Given the description of an element on the screen output the (x, y) to click on. 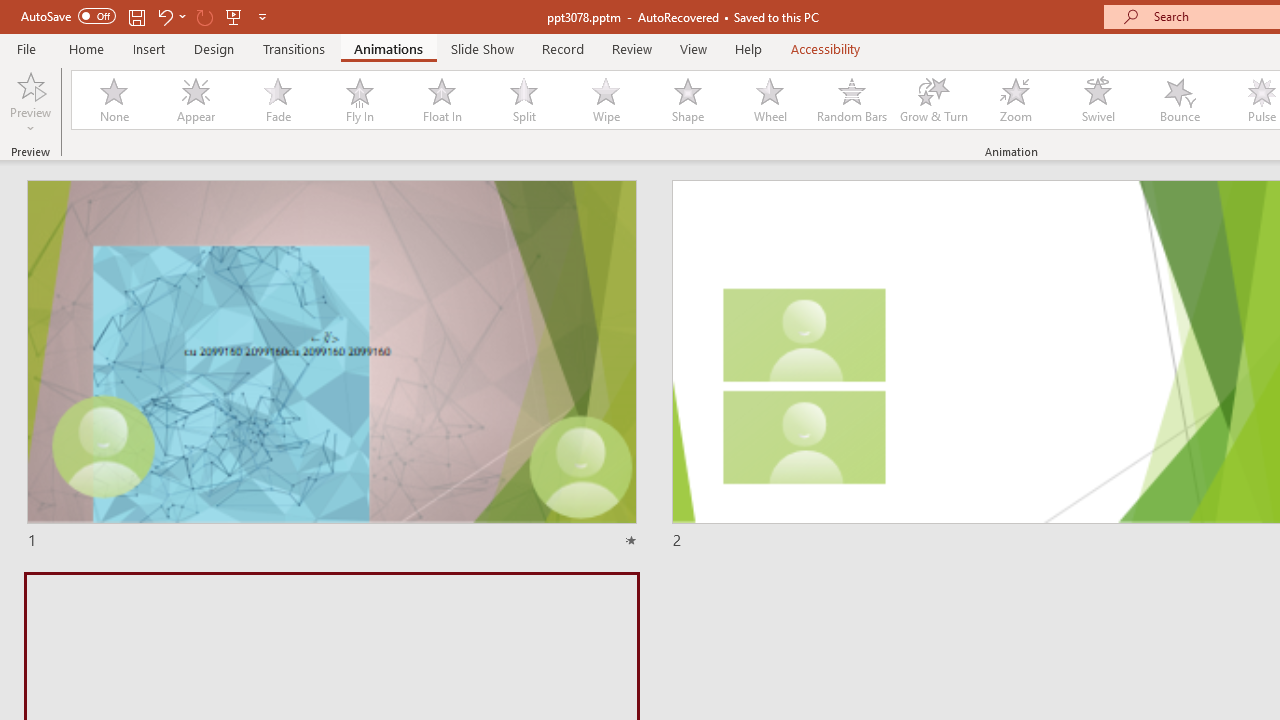
Float In (441, 100)
Fly In (359, 100)
